Given the description of an element on the screen output the (x, y) to click on. 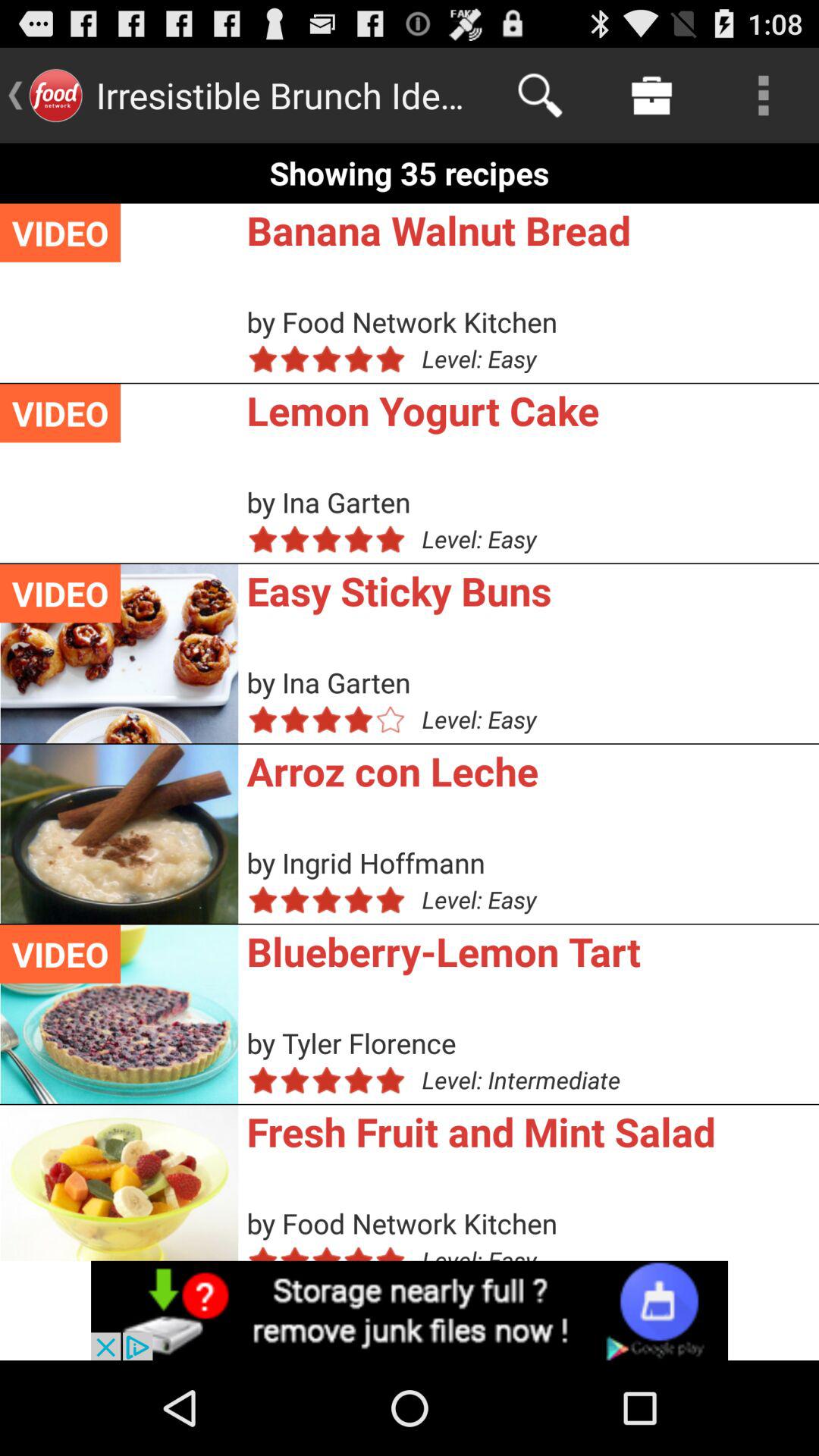
selected advertisement (409, 1310)
